Given the description of an element on the screen output the (x, y) to click on. 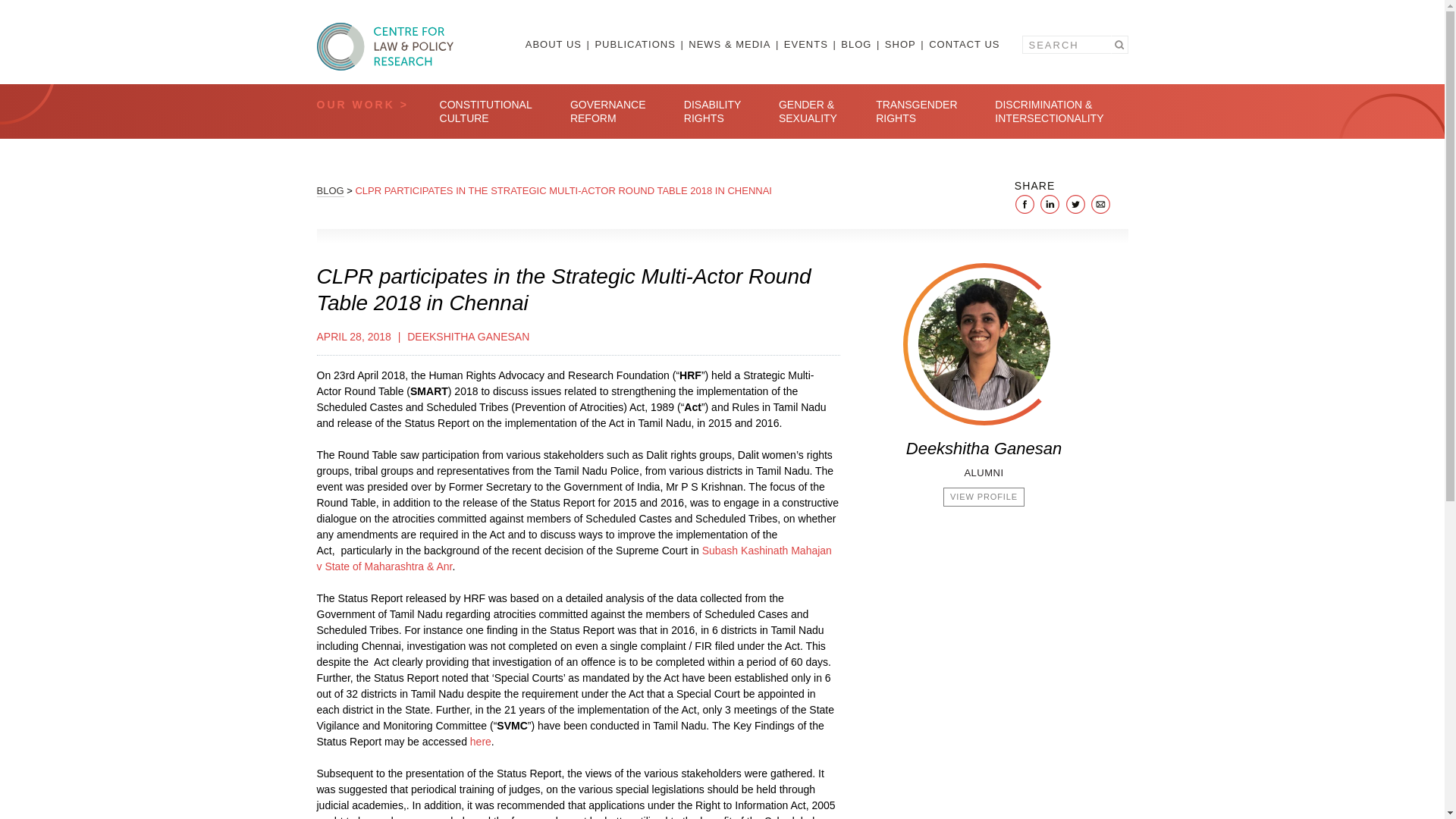
linkedIn (1049, 204)
GOVERNANCE REFORM (608, 111)
CLPR (384, 46)
BLOG (860, 44)
CONTACT US (963, 44)
twitter (1075, 204)
EVENTS (811, 44)
TRANSGENDER RIGHTS (916, 111)
DISABILITY RIGHTS (712, 111)
SHOP (905, 44)
Search (1117, 45)
facebook (1024, 204)
Search (1117, 45)
PUBLICATIONS (639, 44)
CONSTITUTIONAL CULTURE (485, 111)
